Given the description of an element on the screen output the (x, y) to click on. 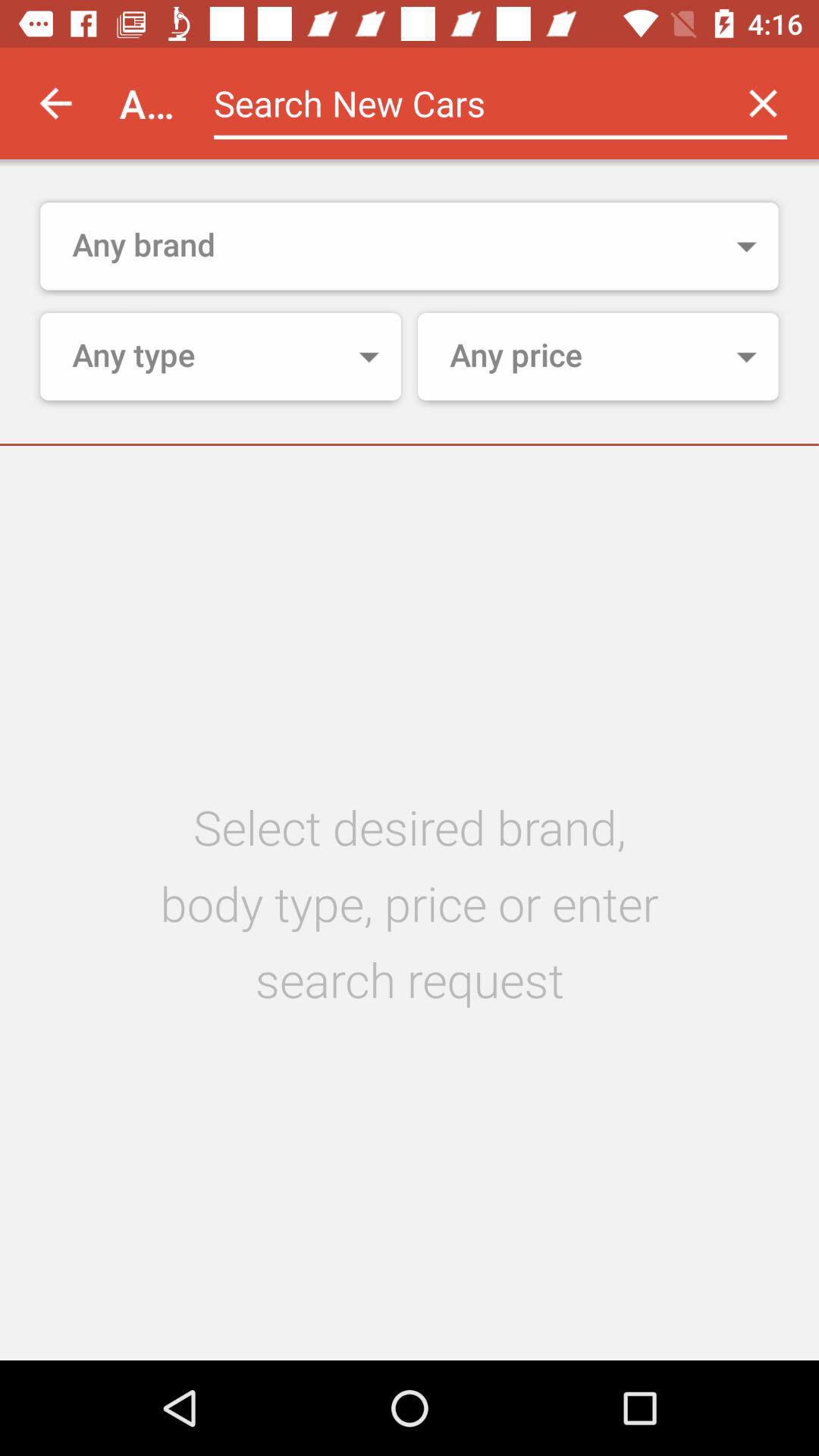
turn off icon to the right of autoportal icon (460, 103)
